Given the description of an element on the screen output the (x, y) to click on. 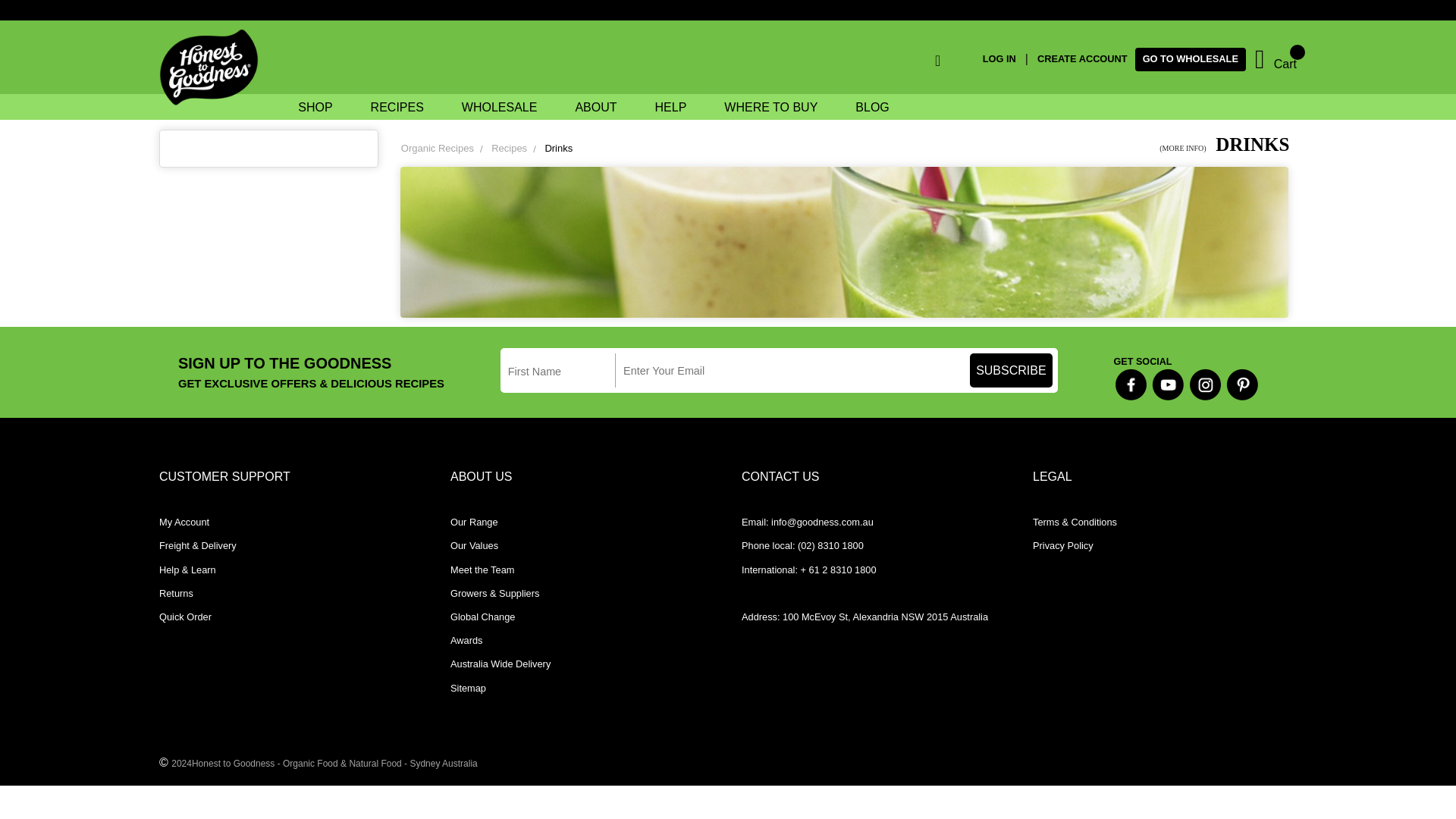
Cart (1276, 58)
Search (901, 62)
SUBSCRIBE (1010, 369)
LOG IN (1003, 59)
Honest to Goodness (212, 68)
Cart (1276, 58)
CREATE ACCOUNT (1081, 59)
Search (901, 62)
GO TO WHOLESALE (1190, 59)
